Given the description of an element on the screen output the (x, y) to click on. 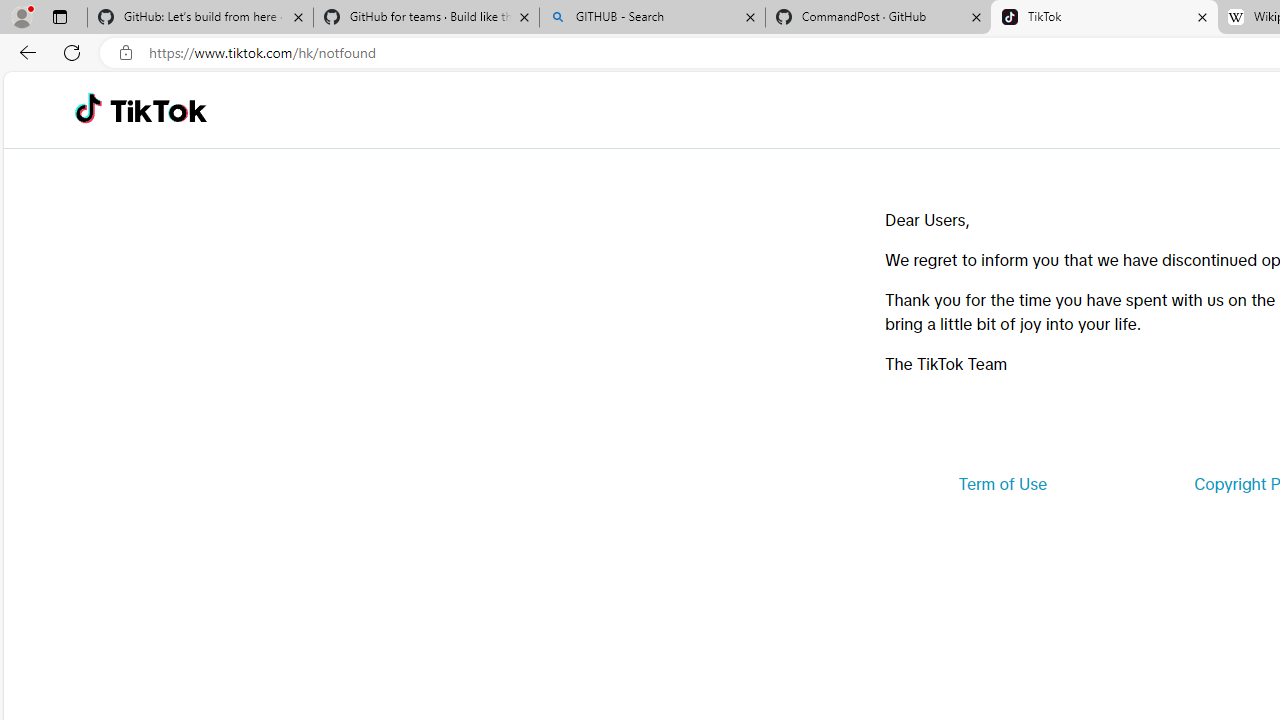
TikTok (158, 110)
Term of Use (1002, 484)
GITHUB - Search (652, 17)
TikTok (1104, 17)
